Given the description of an element on the screen output the (x, y) to click on. 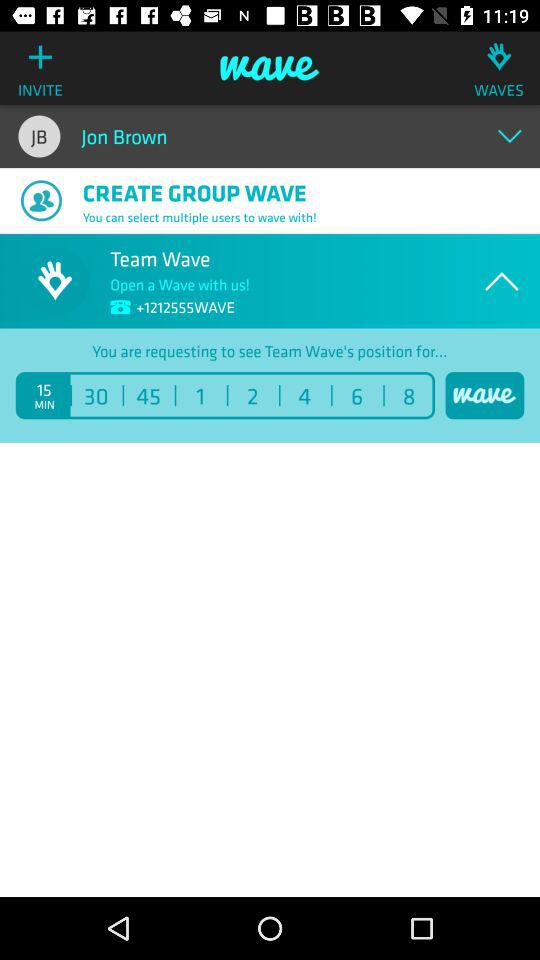
tap item above jon brown item (269, 68)
